Given the description of an element on the screen output the (x, y) to click on. 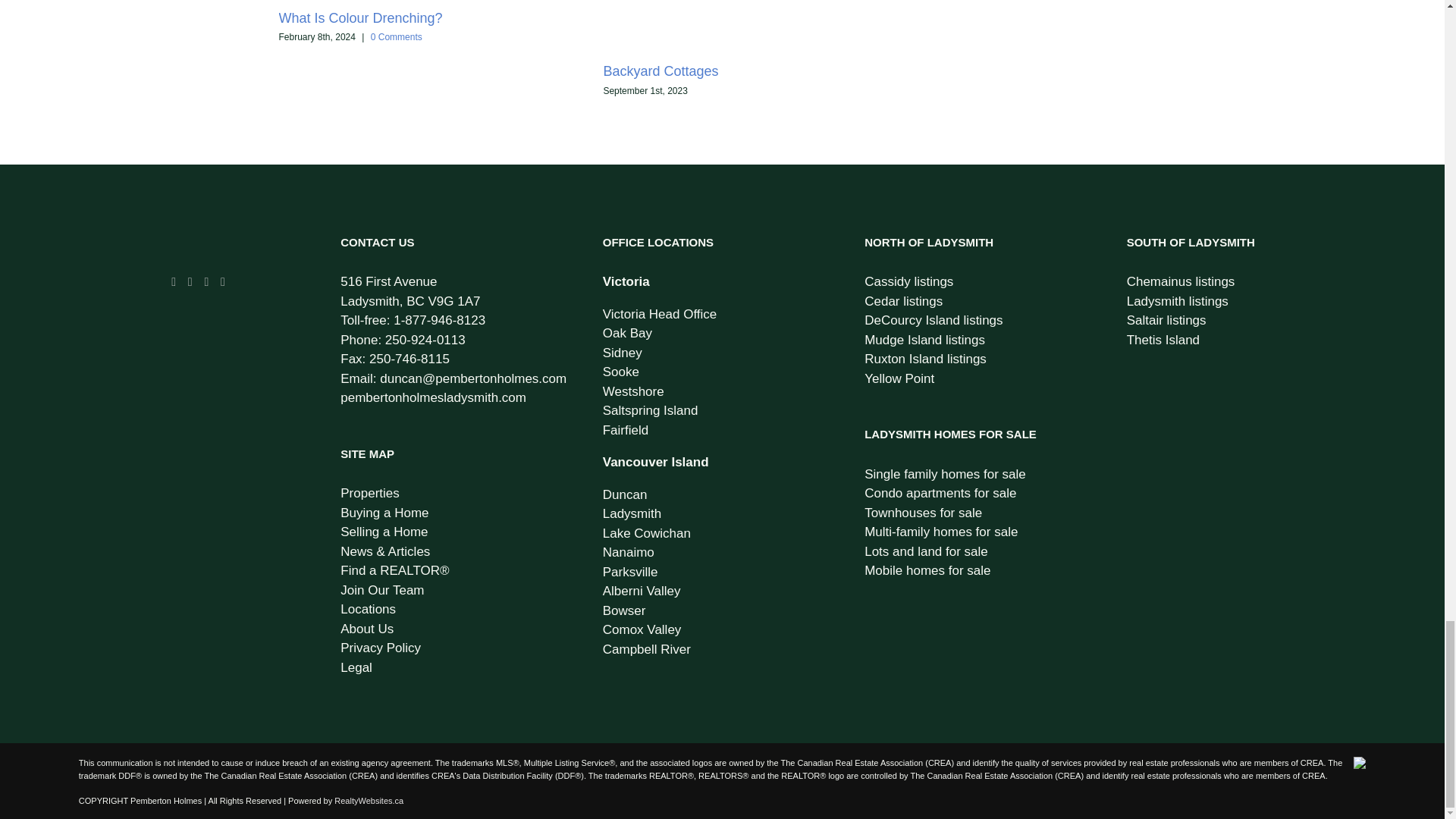
What Is Colour Drenching? (360, 17)
Backyard Cottages (659, 70)
0 Comments (396, 36)
Backyard Cottages (659, 70)
What is Colour Drenching? (360, 17)
